Given the description of an element on the screen output the (x, y) to click on. 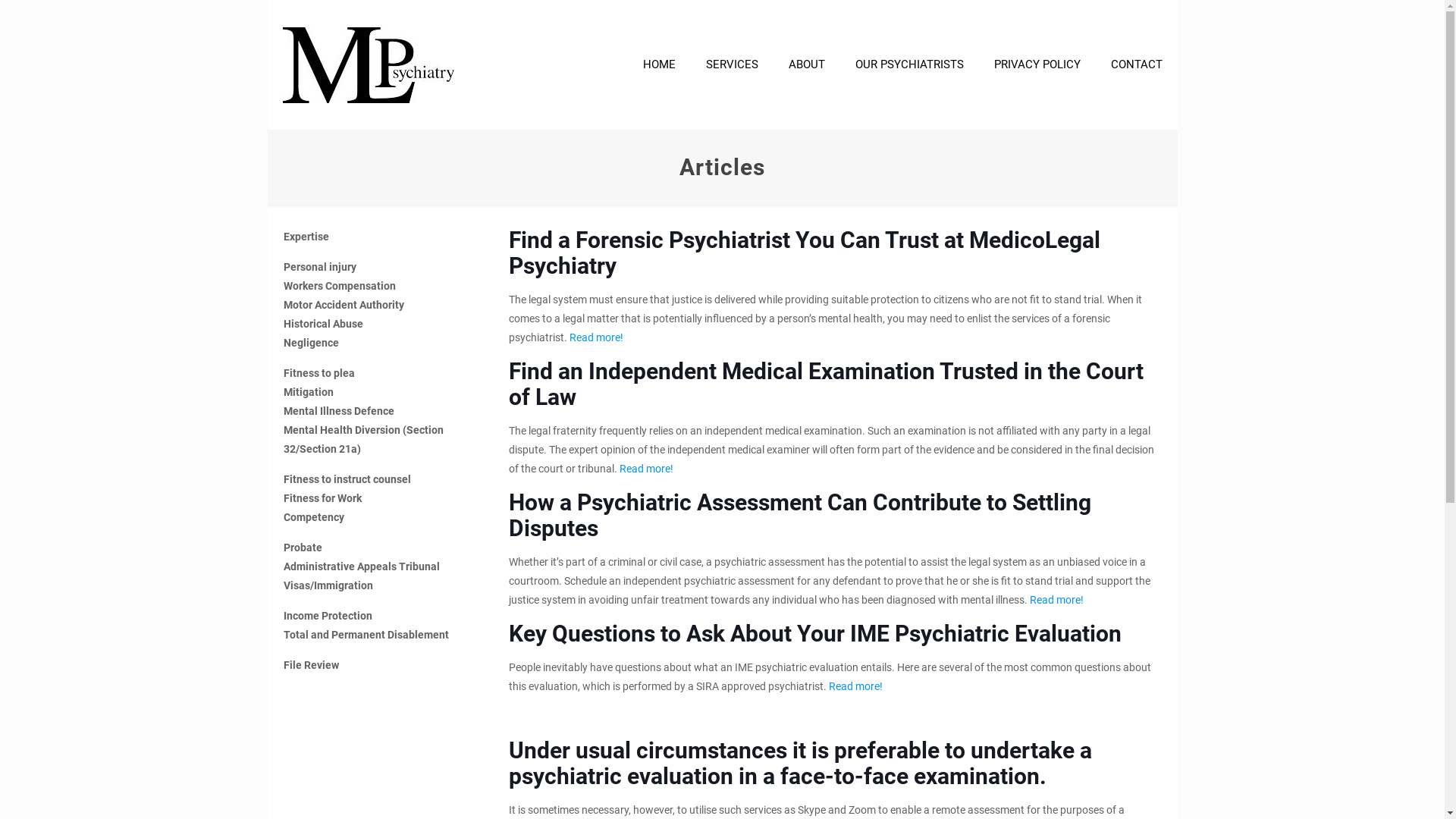
HOME Element type: text (658, 64)
Medico Legal Psychiatry Element type: hover (367, 64)
Read more!  Element type: text (647, 468)
ABOUT Element type: text (806, 64)
CONTACT Element type: text (1135, 64)
SERVICES Element type: text (731, 64)
Read more!  Element type: text (597, 337)
OUR PSYCHIATRISTS Element type: text (909, 64)
Read more! Element type: text (1056, 599)
PRIVACY POLICY Element type: text (1036, 64)
Read more! Element type: text (855, 686)
